Given the description of an element on the screen output the (x, y) to click on. 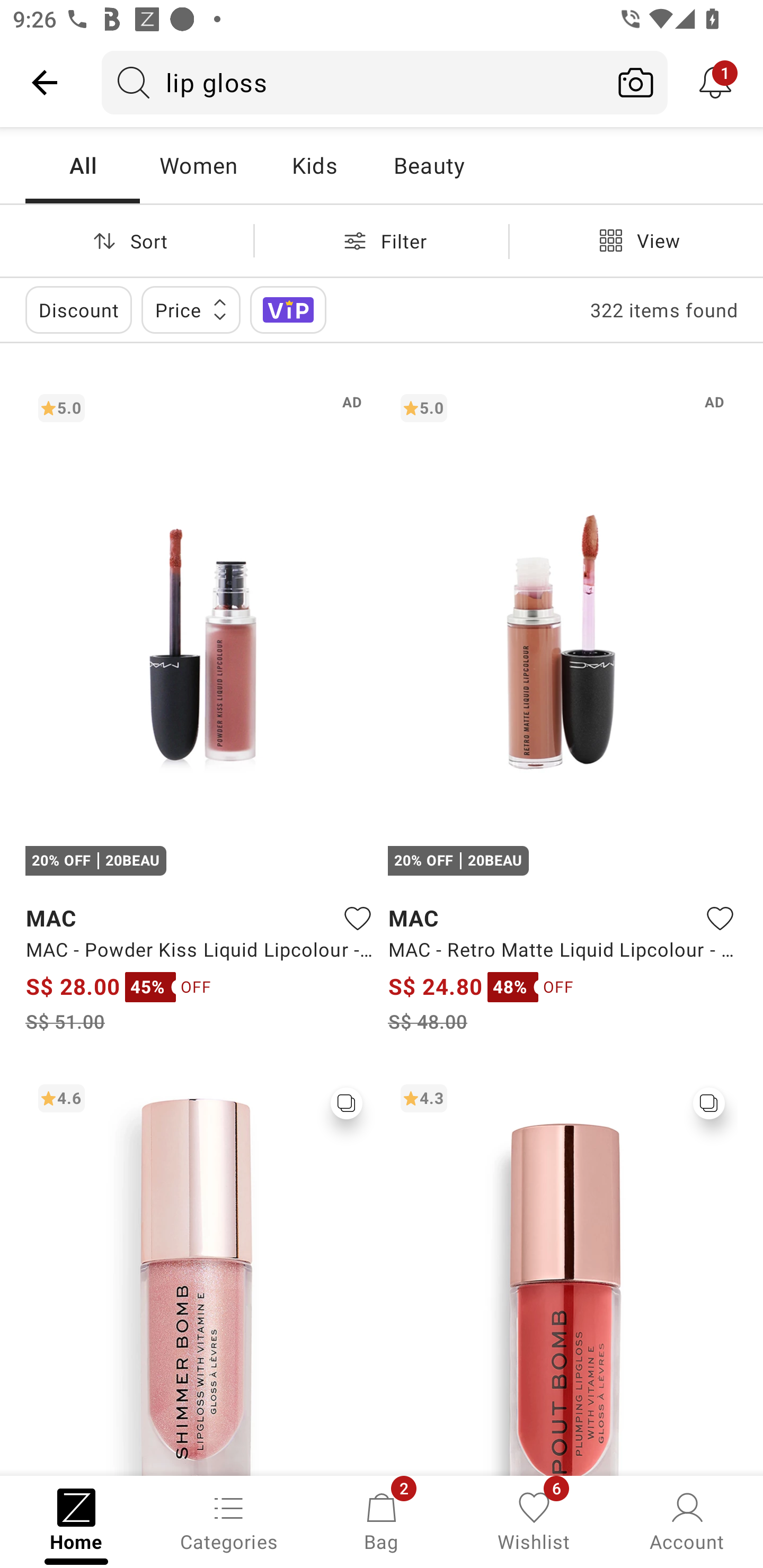
Navigate up (44, 82)
lip gloss (352, 82)
Women (198, 165)
Kids (314, 165)
Beauty (428, 165)
Sort (126, 240)
Filter (381, 240)
View (636, 240)
Discount (78, 309)
Price (190, 309)
4.6 (200, 1272)
4.3 (562, 1272)
Categories (228, 1519)
Bag, 2 new notifications Bag (381, 1519)
Wishlist, 6 new notifications Wishlist (533, 1519)
Account (686, 1519)
